Given the description of an element on the screen output the (x, y) to click on. 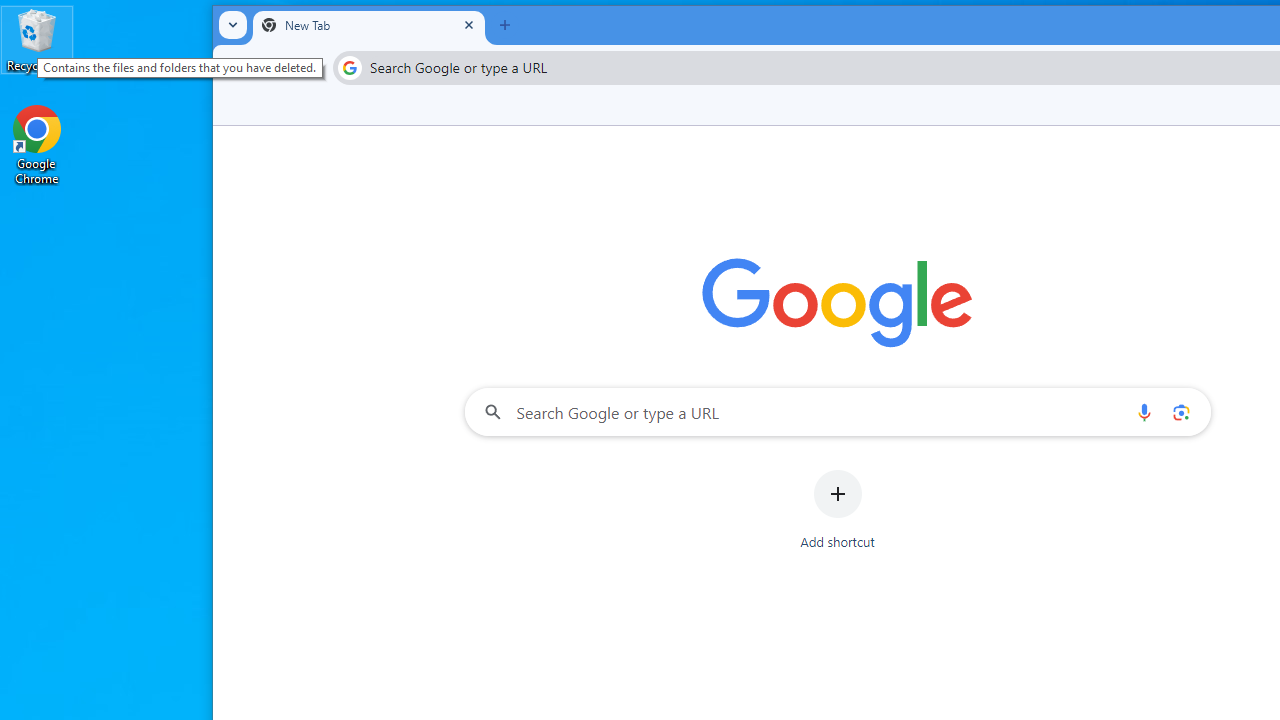
Recycle Bin (37, 39)
Google Chrome (37, 144)
